Given the description of an element on the screen output the (x, y) to click on. 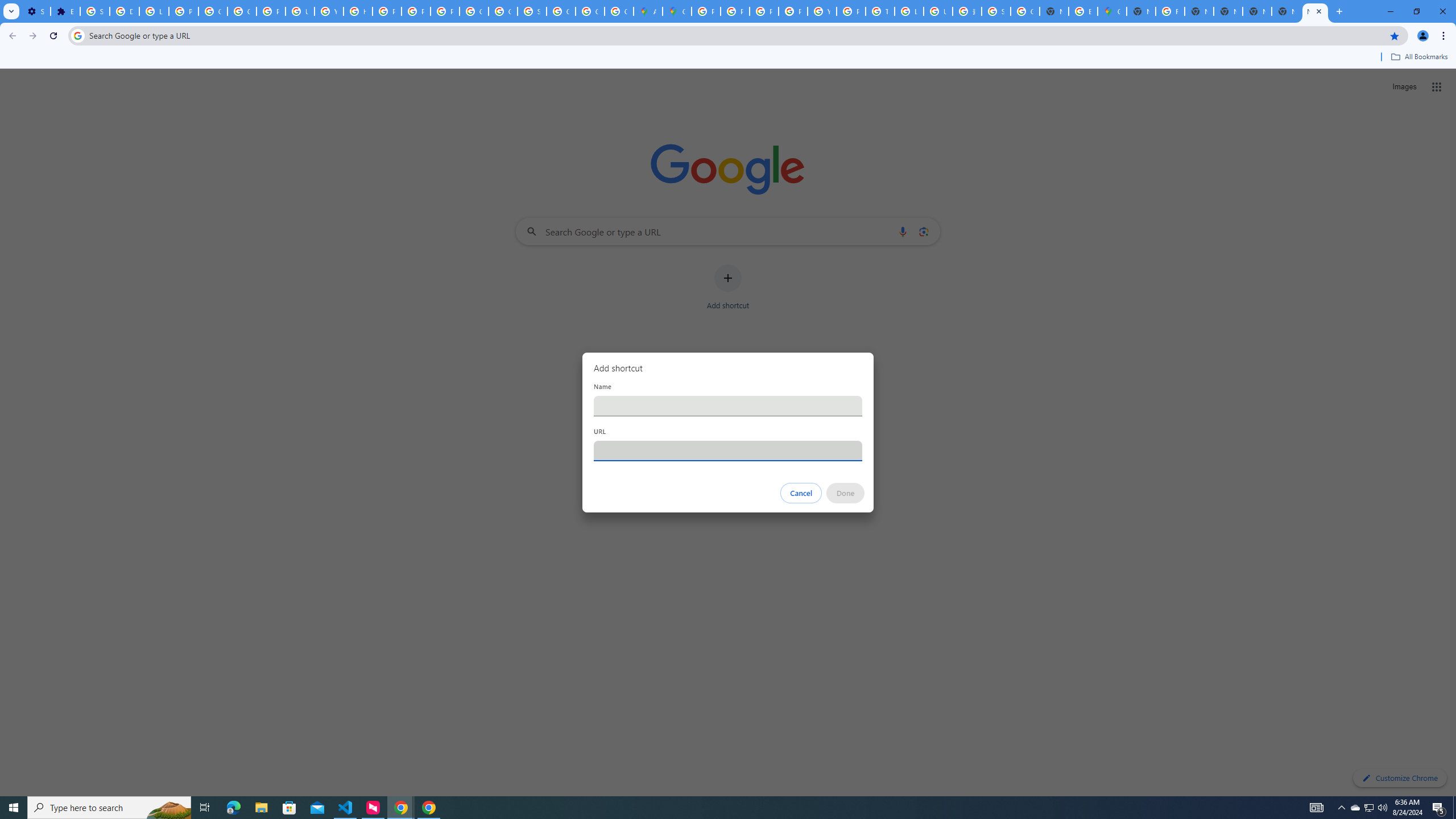
Bookmarks (728, 58)
Privacy Help Center - Policies Help (763, 11)
Sign in - Google Accounts (531, 11)
Explore new street-level details - Google Maps Help (1082, 11)
New Tab (1140, 11)
Cancel (801, 493)
Policy Accountability and Transparency - Transparency Center (705, 11)
Privacy Help Center - Policies Help (386, 11)
